Given the description of an element on the screen output the (x, y) to click on. 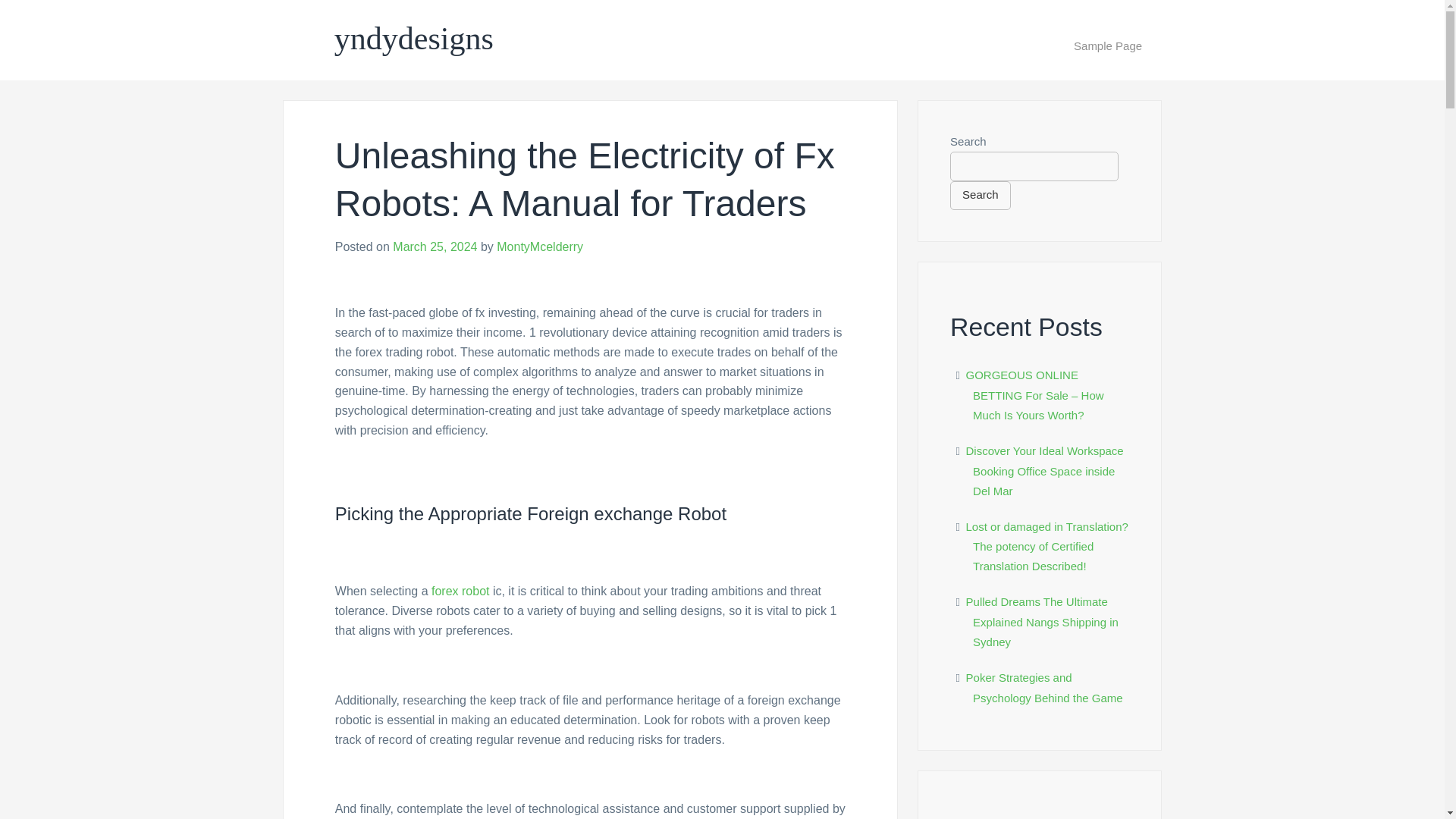
Poker Strategies and Psychology Behind the Game (1044, 687)
Search (980, 194)
yndydesigns (413, 38)
Sample Page (1107, 46)
forex robot (459, 590)
March 25, 2024 (435, 246)
MontyMcelderry (539, 246)
